Given the description of an element on the screen output the (x, y) to click on. 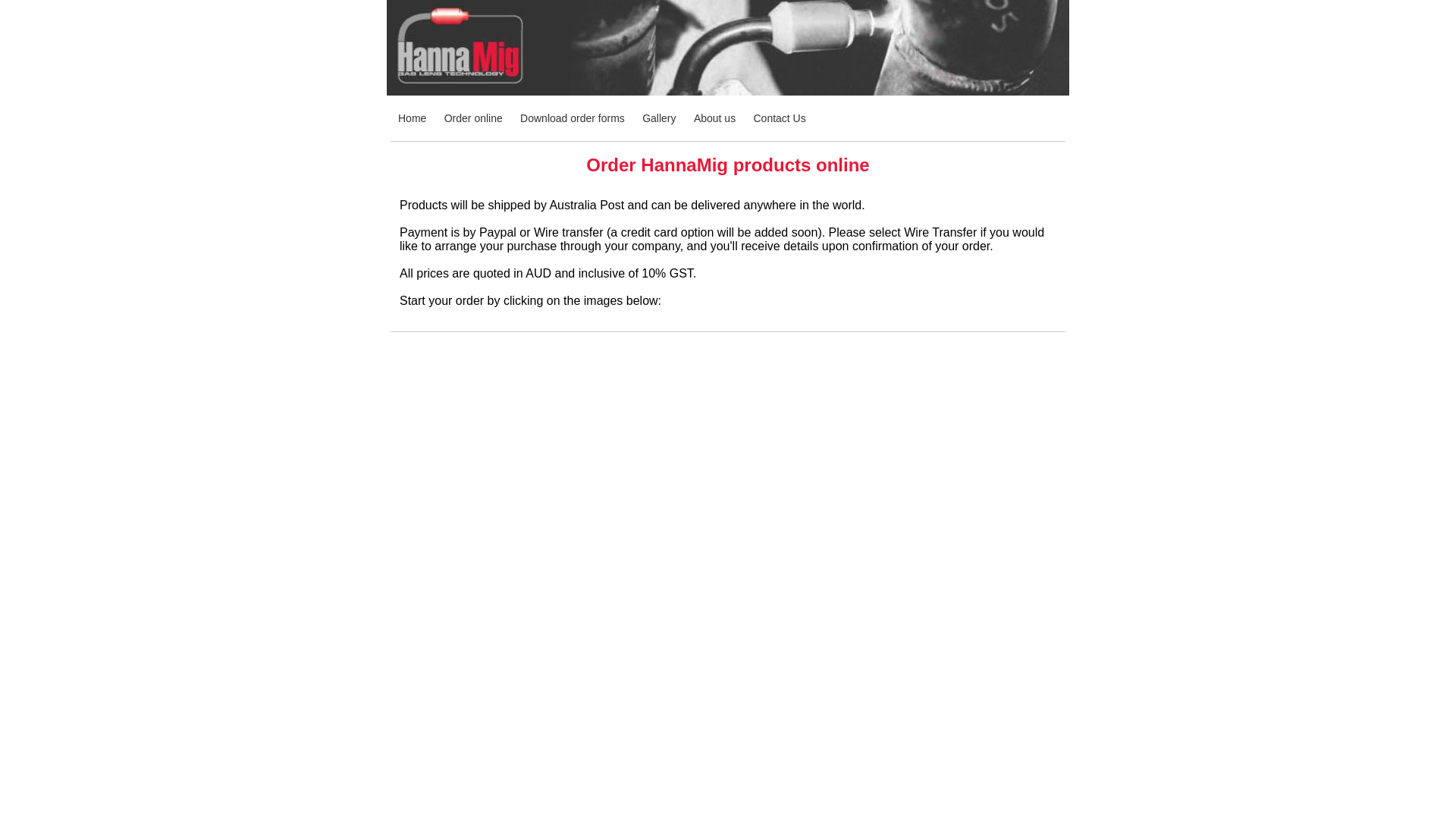
Order online Element type: text (473, 118)
Download order forms Element type: text (572, 118)
Gallery Element type: text (658, 118)
Home Element type: text (412, 118)
Contact Us Element type: text (779, 118)
About us Element type: text (714, 118)
